Given the description of an element on the screen output the (x, y) to click on. 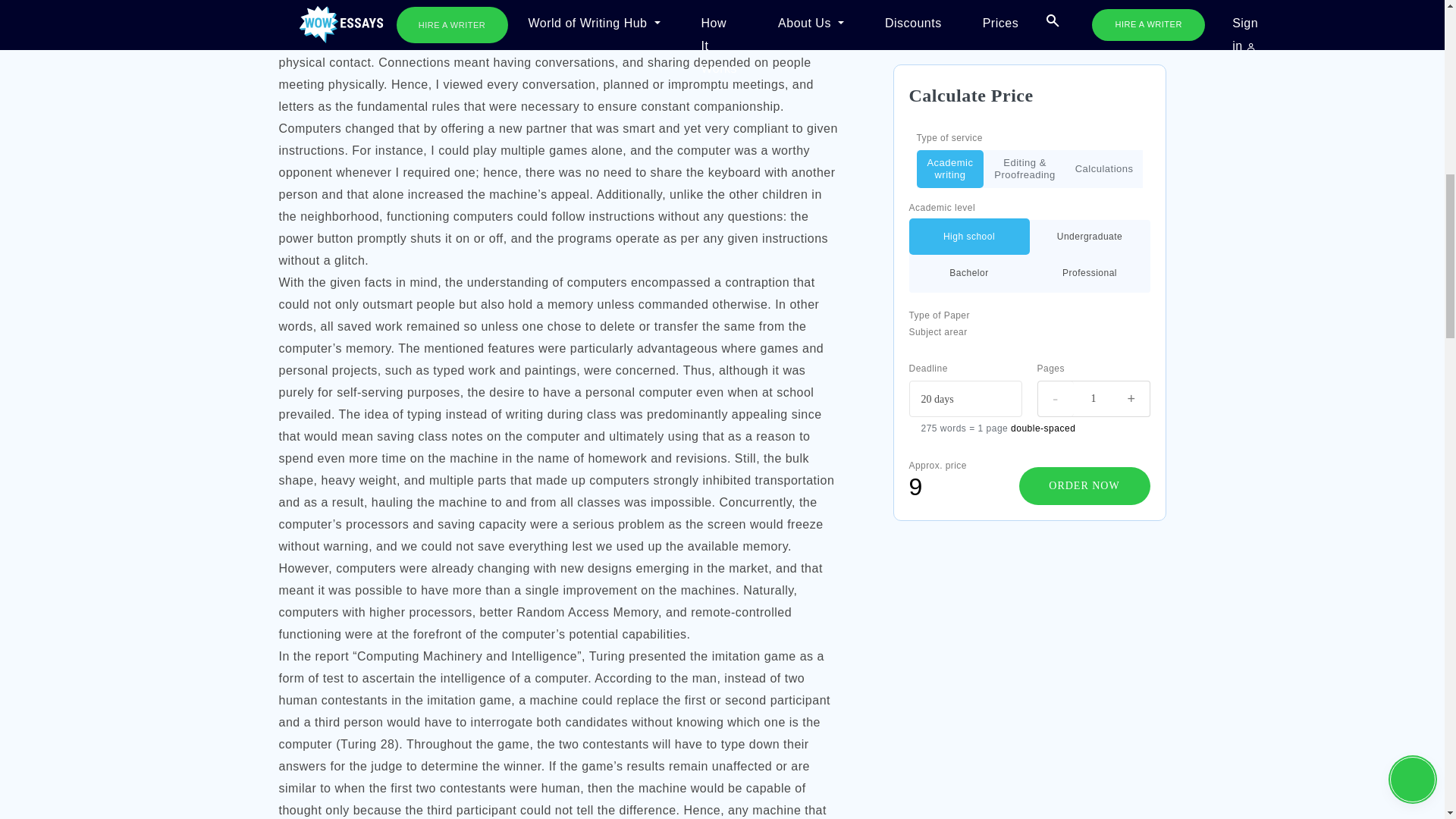
1 (1093, 101)
